Given the description of an element on the screen output the (x, y) to click on. 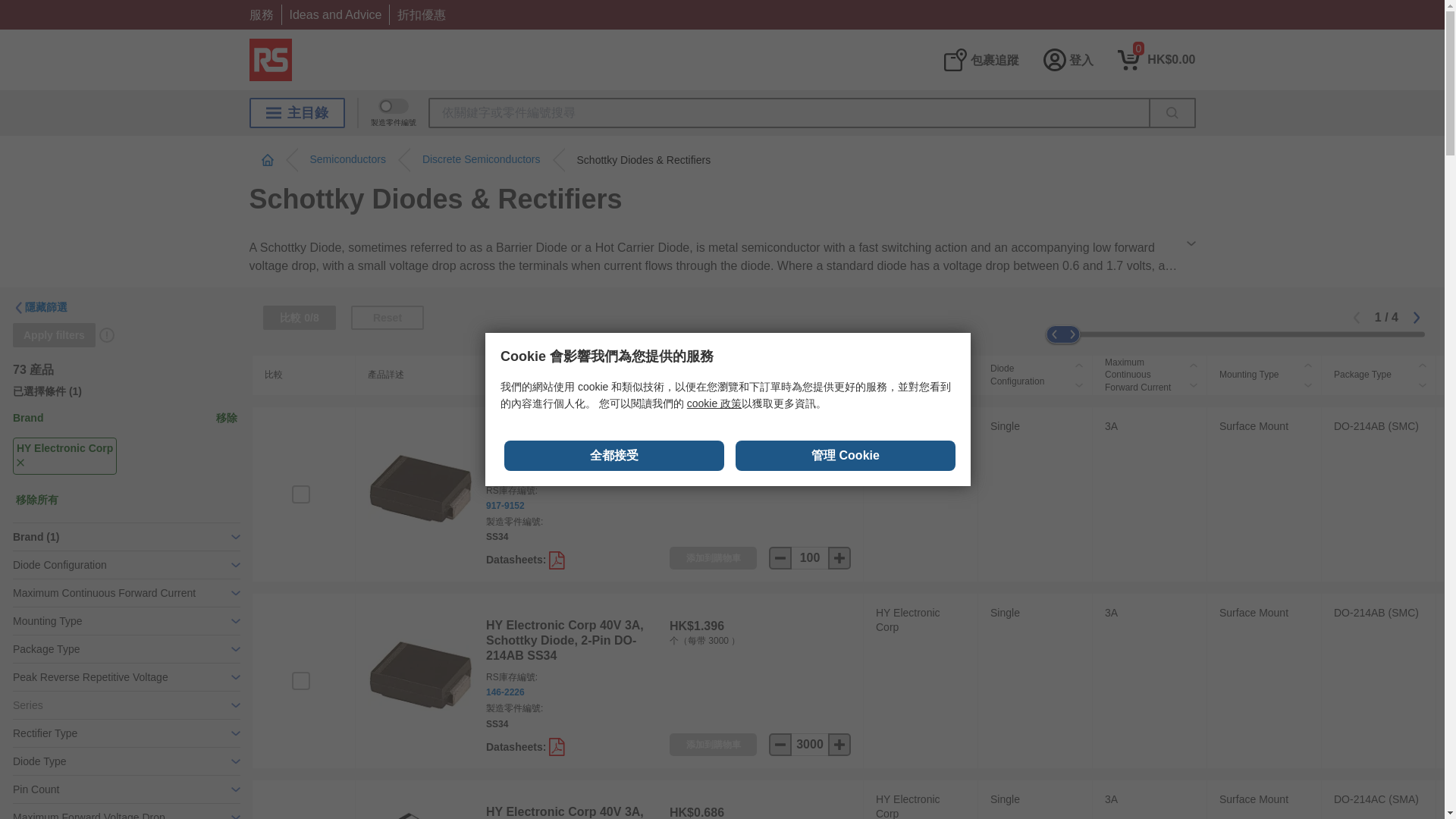
on (299, 680)
Ideas and Advice (335, 14)
0 (1156, 59)
100 (810, 558)
3000 (810, 744)
on (299, 494)
